Given the description of an element on the screen output the (x, y) to click on. 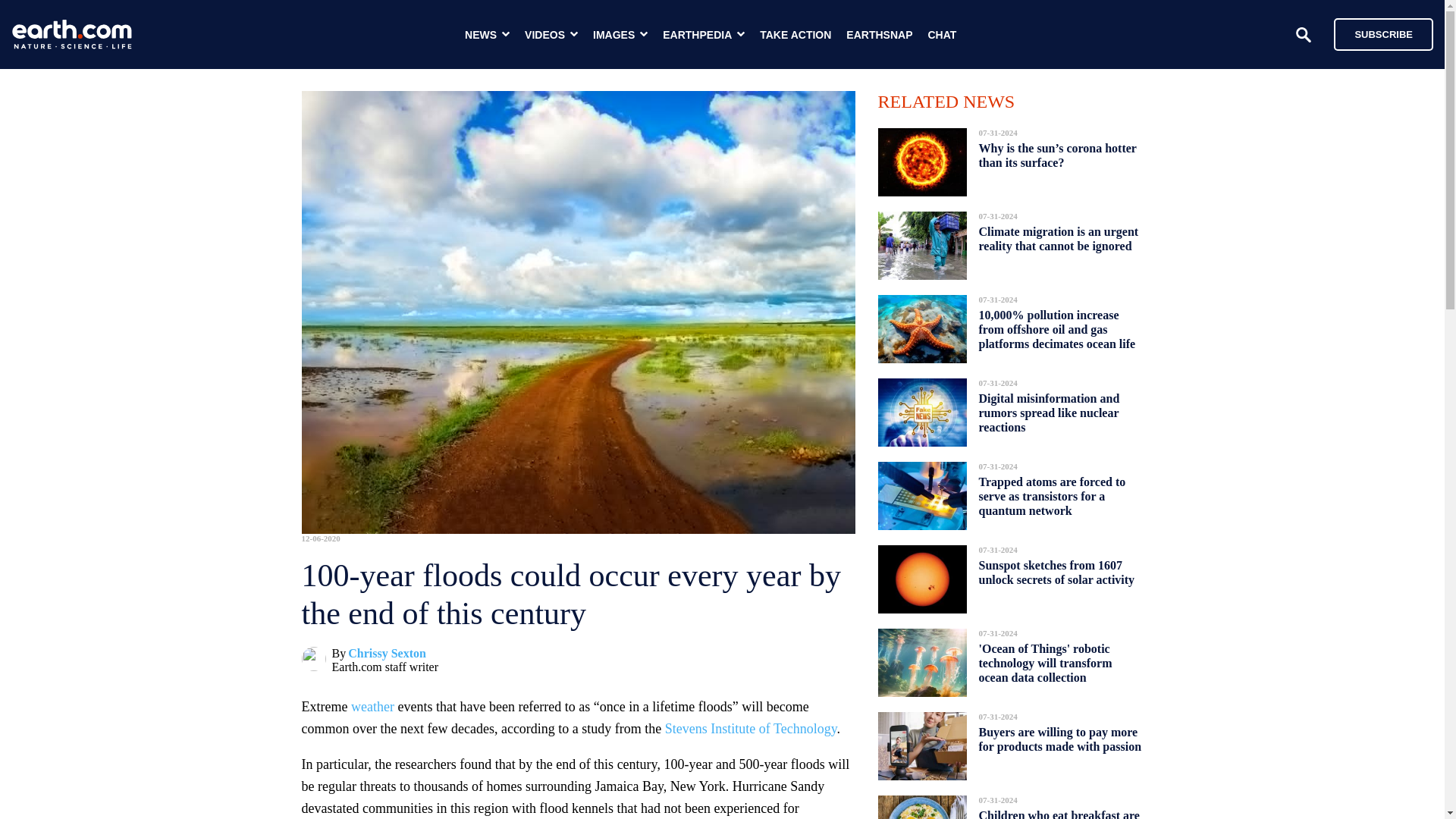
CHAT (941, 34)
SUBSCRIBE (1382, 34)
Stevens Institute of Technology (751, 728)
SUBSCRIBE (1375, 33)
Children who eat breakfast are happier in life (1058, 810)
EARTHSNAP (878, 34)
Sunspot sketches from 1607 unlock secrets of solar activity (1056, 572)
TAKE ACTION (795, 34)
Chrissy Sexton (386, 653)
weather (372, 706)
